Given the description of an element on the screen output the (x, y) to click on. 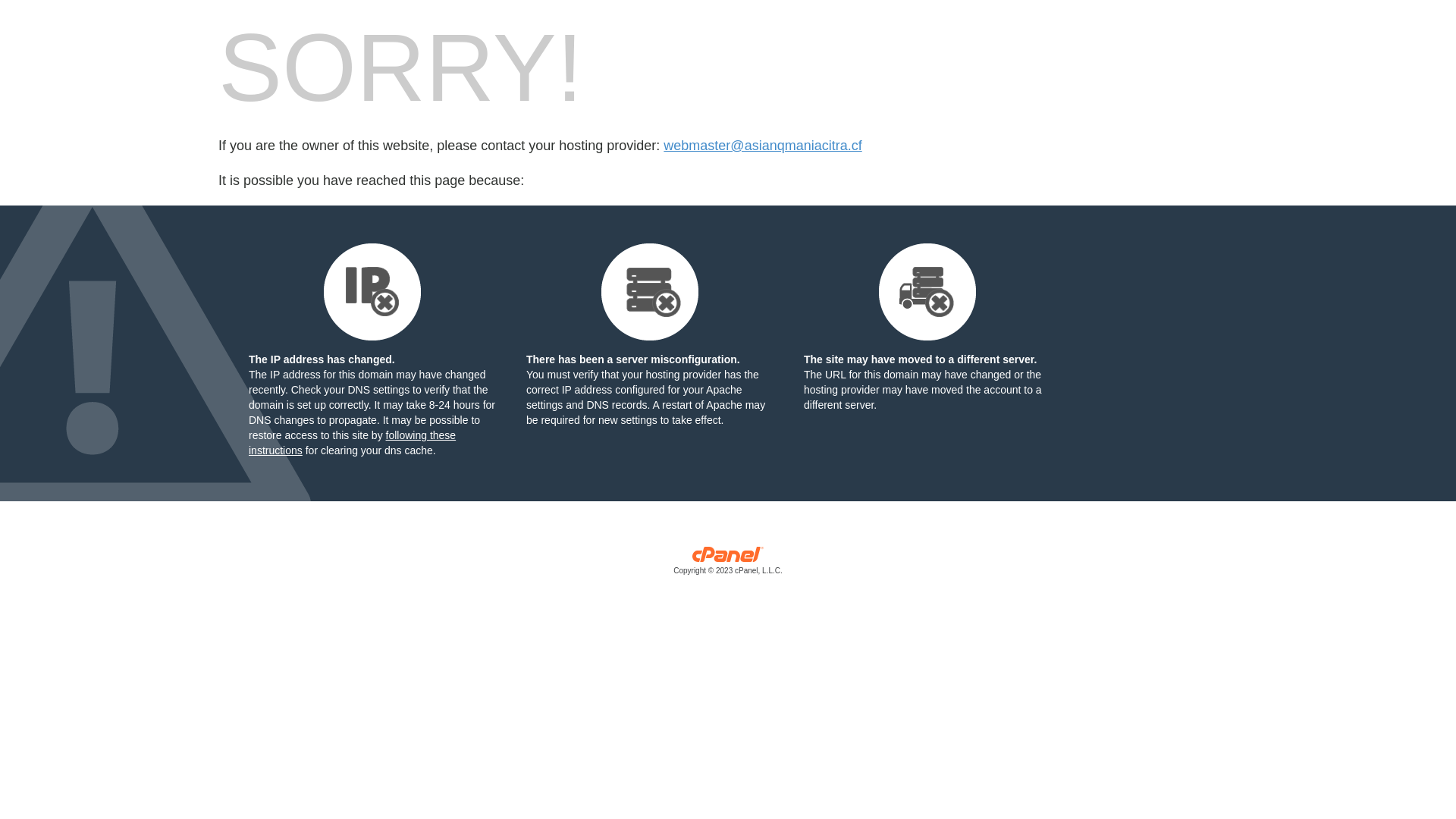
following these instructions Element type: text (351, 442)
webmaster@asianqmaniacitra.cf Element type: text (762, 145)
